Given the description of an element on the screen output the (x, y) to click on. 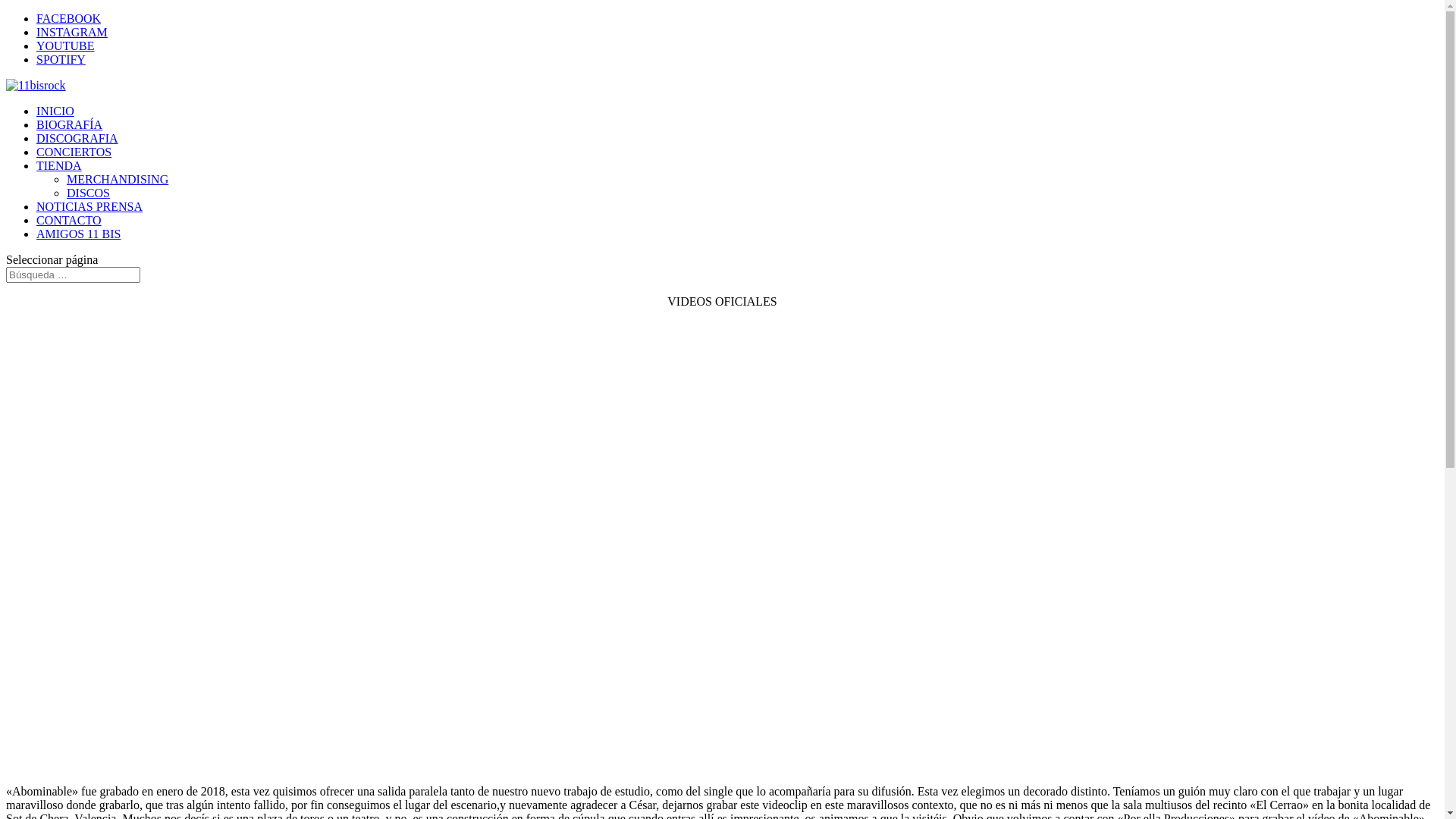
TIENDA Element type: text (58, 165)
INSTAGRAM Element type: text (71, 31)
4 BAJO ZERO - Abominable - (Videoclip Oficial) Element type: hover (415, 550)
CONTACTO Element type: text (68, 219)
NOTICIAS PRENSA Element type: text (89, 206)
DISCOGRAFIA Element type: text (77, 137)
FACEBOOK Element type: text (68, 18)
YOUTUBE Element type: text (65, 45)
INICIO Element type: text (55, 110)
DISCOS Element type: text (87, 192)
Buscar: Element type: hover (73, 274)
CONCIERTOS Element type: text (73, 151)
MERCHANDISING Element type: text (117, 178)
SPOTIFY Element type: text (60, 59)
AMIGOS 11 BIS Element type: text (78, 233)
